Given the description of an element on the screen output the (x, y) to click on. 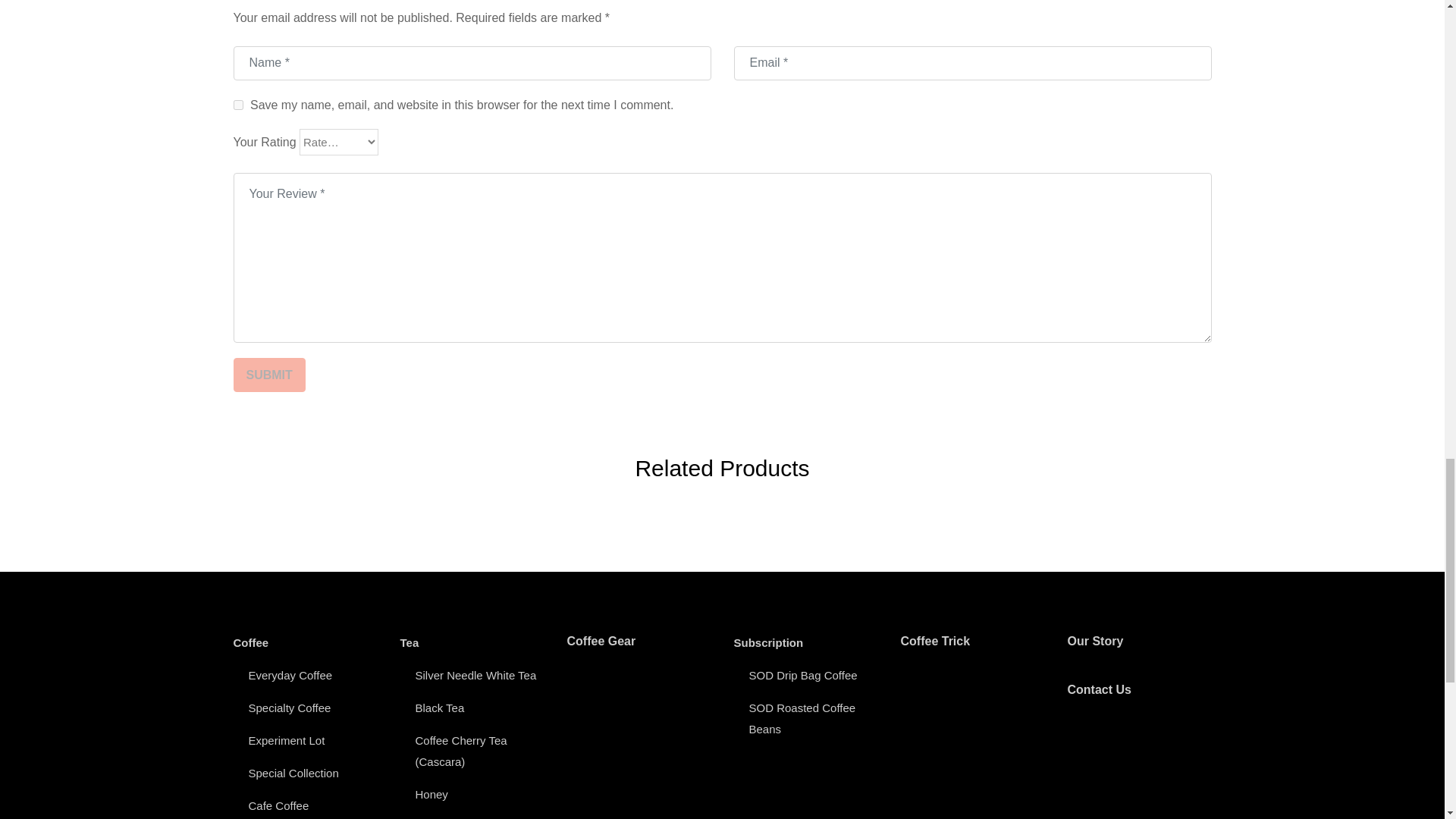
Submit (268, 374)
yes (237, 104)
